Given the description of an element on the screen output the (x, y) to click on. 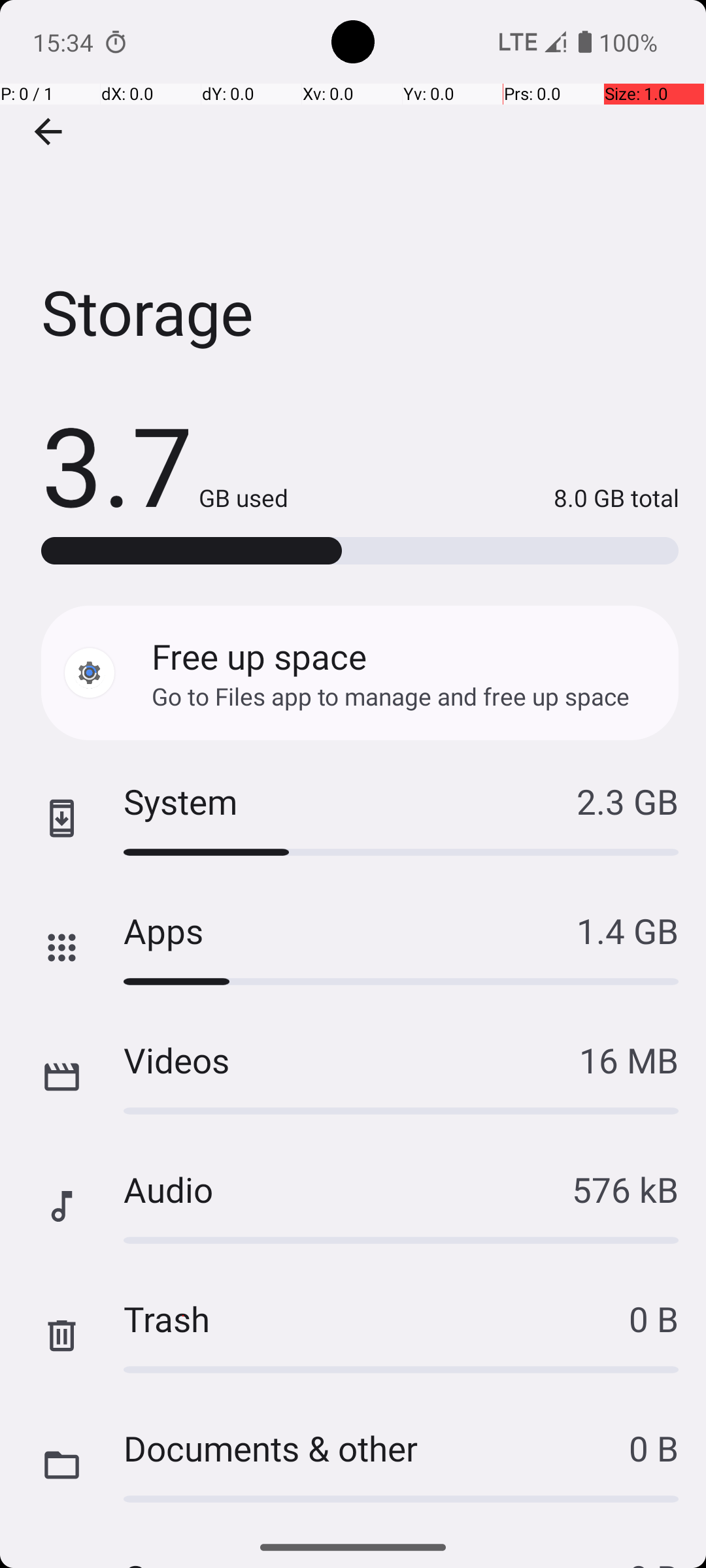
3.7 GB used Element type: android.widget.TextView (164, 463)
1.4 GB Element type: android.widget.TextView (627, 930)
16 MB Element type: android.widget.TextView (628, 1059)
576 kB Element type: android.widget.TextView (624, 1189)
